Given the description of an element on the screen output the (x, y) to click on. 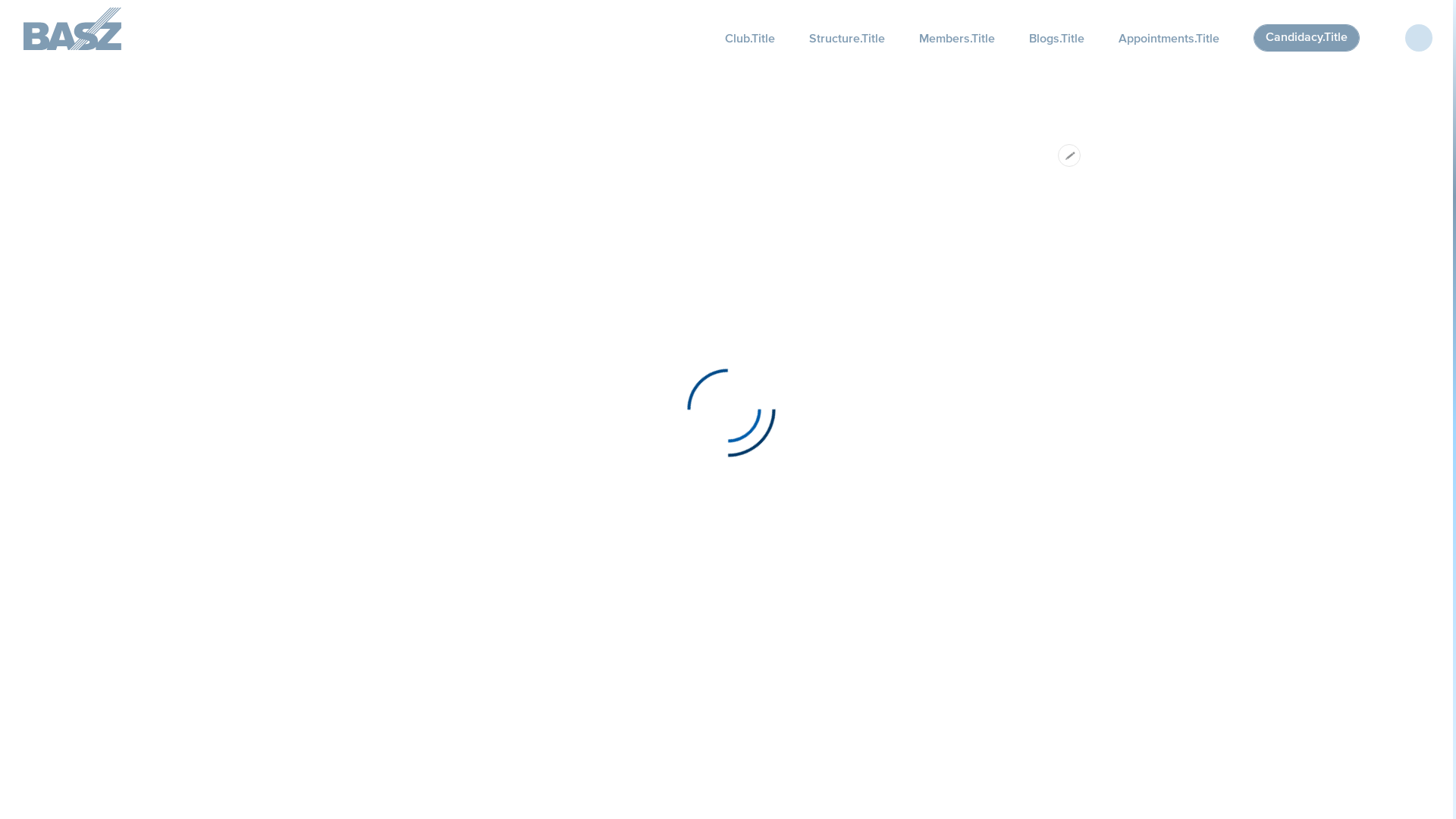
Blogs.Title Element type: text (1056, 38)
Appointments.Title Element type: text (1168, 38)
Candidacy.Title Element type: text (1306, 37)
Members.Title Element type: text (956, 38)
Structure.Title Element type: text (846, 38)
Club.Title Element type: text (749, 38)
